Given the description of an element on the screen output the (x, y) to click on. 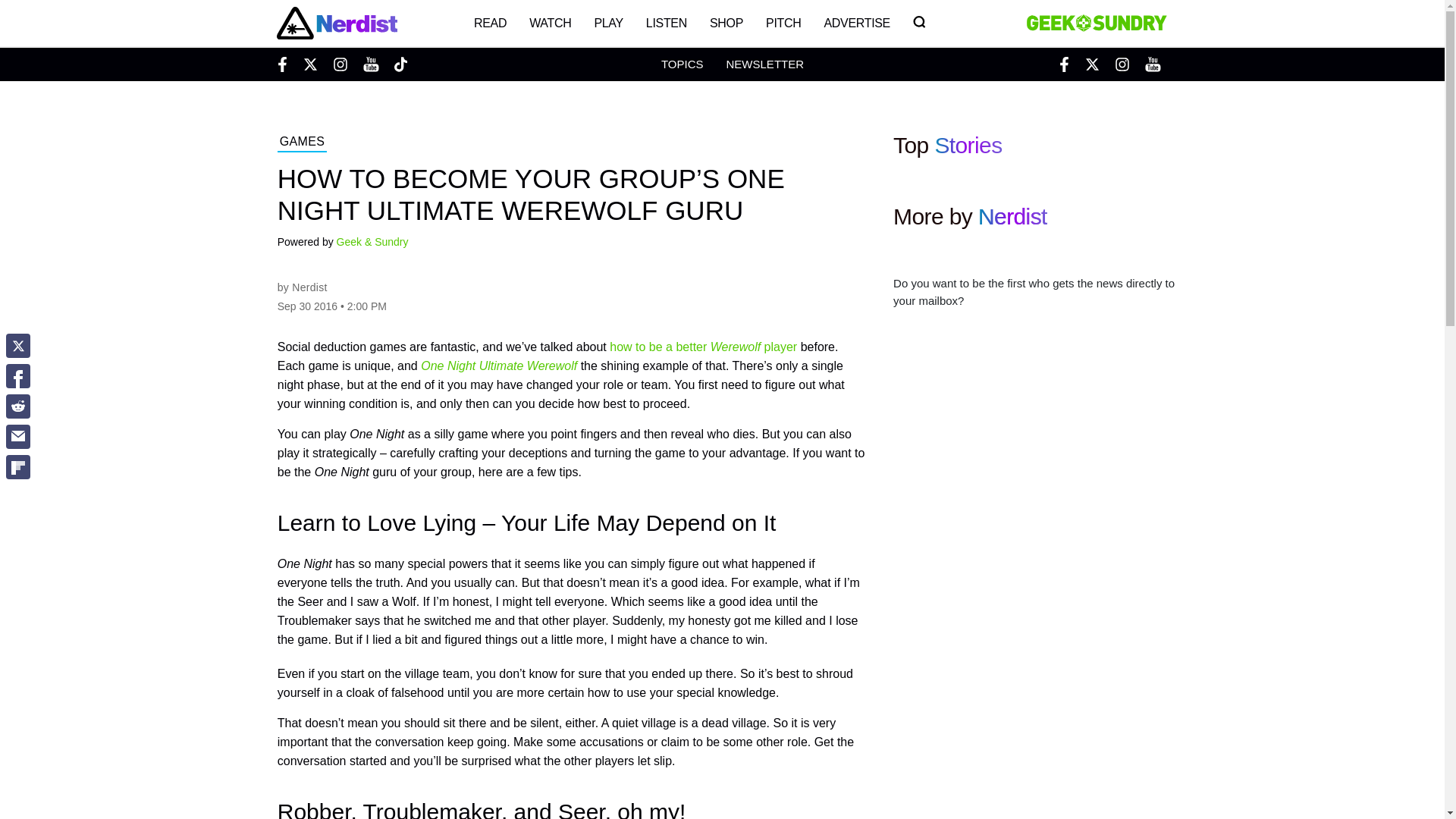
Nerdist (1012, 216)
GAMES (302, 143)
PITCH (783, 22)
LISTEN (666, 22)
Nerdist (309, 287)
Twitter Nerdist (309, 63)
Nerdist (336, 23)
how to be a better Werewolf player (703, 346)
Twitter Geek and Sundry (1091, 63)
READ (490, 22)
